Given the description of an element on the screen output the (x, y) to click on. 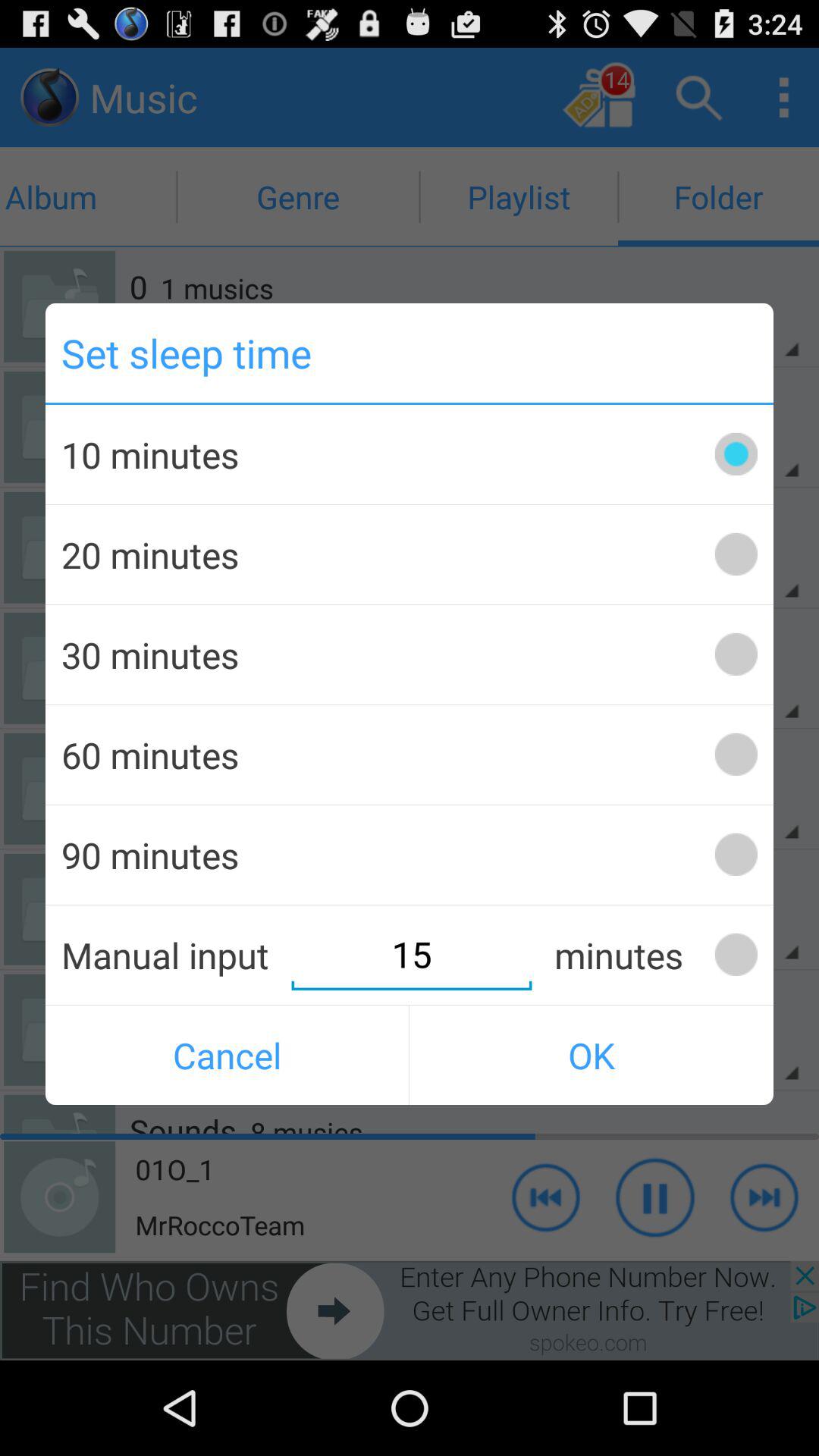
set timer for 60 minutes (735, 754)
